Given the description of an element on the screen output the (x, y) to click on. 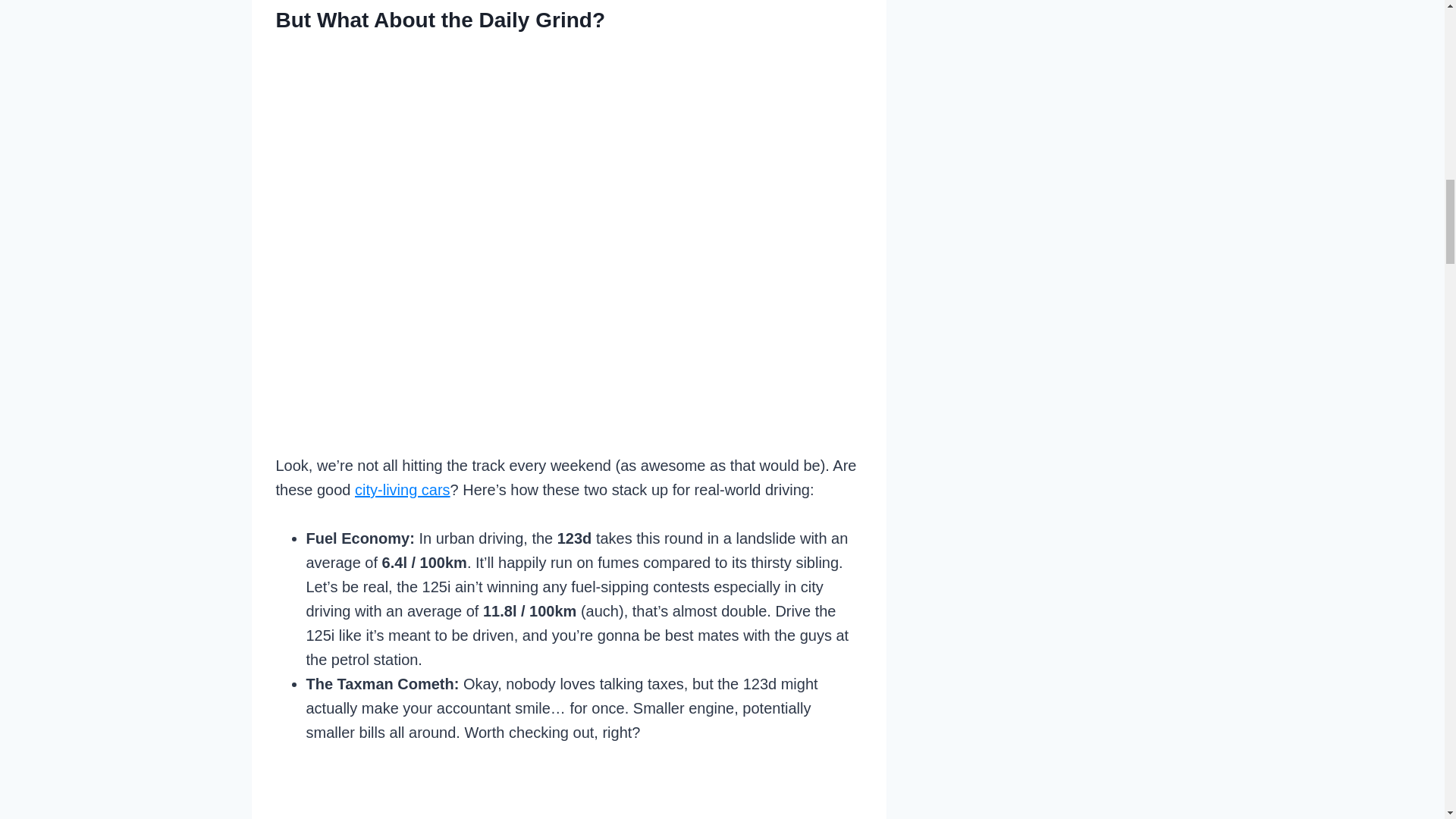
city-living cars (402, 489)
Advertisement (584, 785)
